Given the description of an element on the screen output the (x, y) to click on. 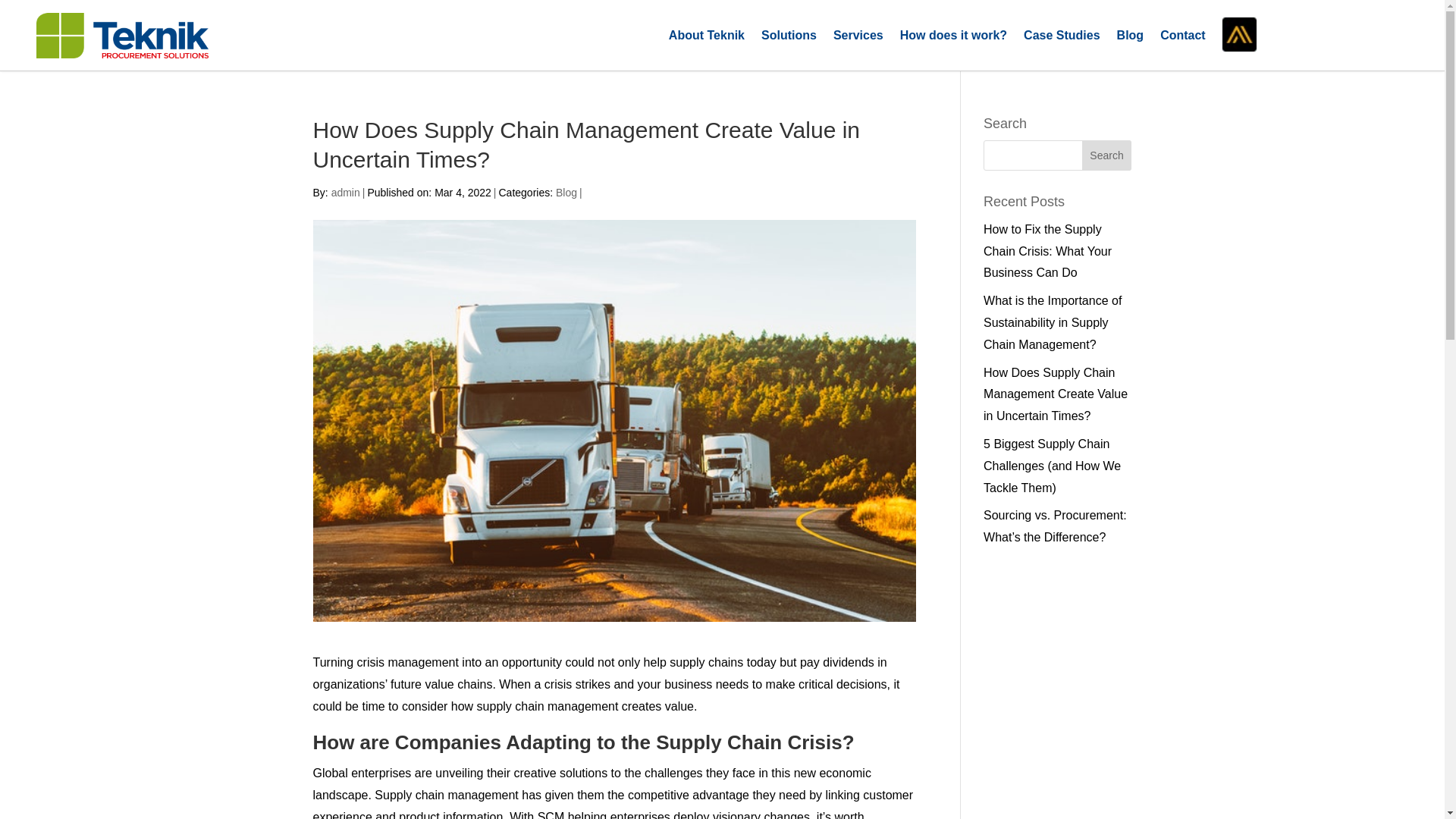
Search (1106, 155)
Blog (566, 192)
Search (1106, 155)
Image 9 (122, 34)
Blog (1130, 38)
About Teknik (706, 38)
admin (345, 192)
Contact (1182, 38)
Solutions (788, 38)
Services (857, 38)
Case Studies (1061, 38)
How does it work? (953, 38)
Posts by admin (345, 192)
